Given the description of an element on the screen output the (x, y) to click on. 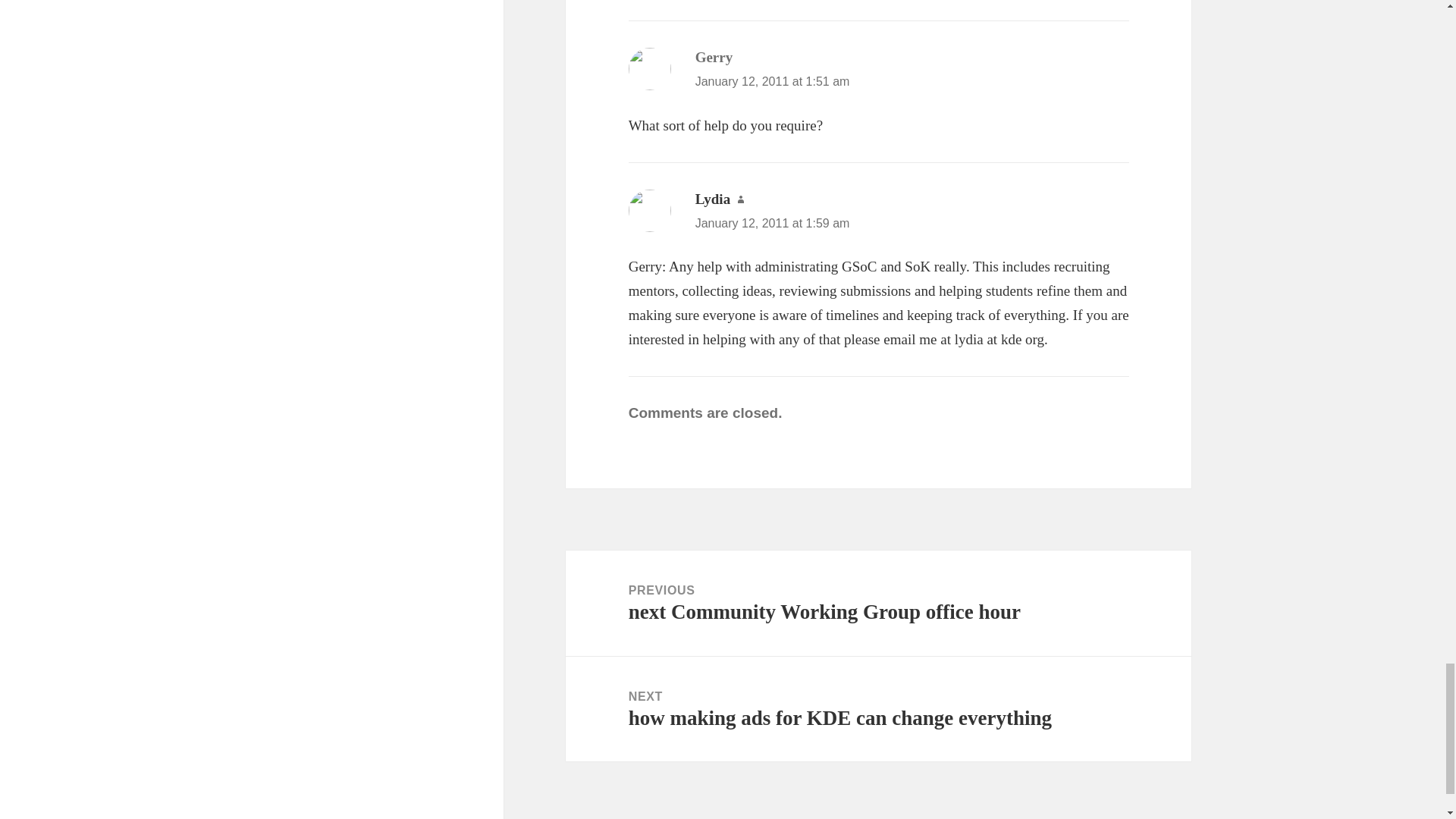
January 12, 2011 at 1:51 am (772, 81)
